Given the description of an element on the screen output the (x, y) to click on. 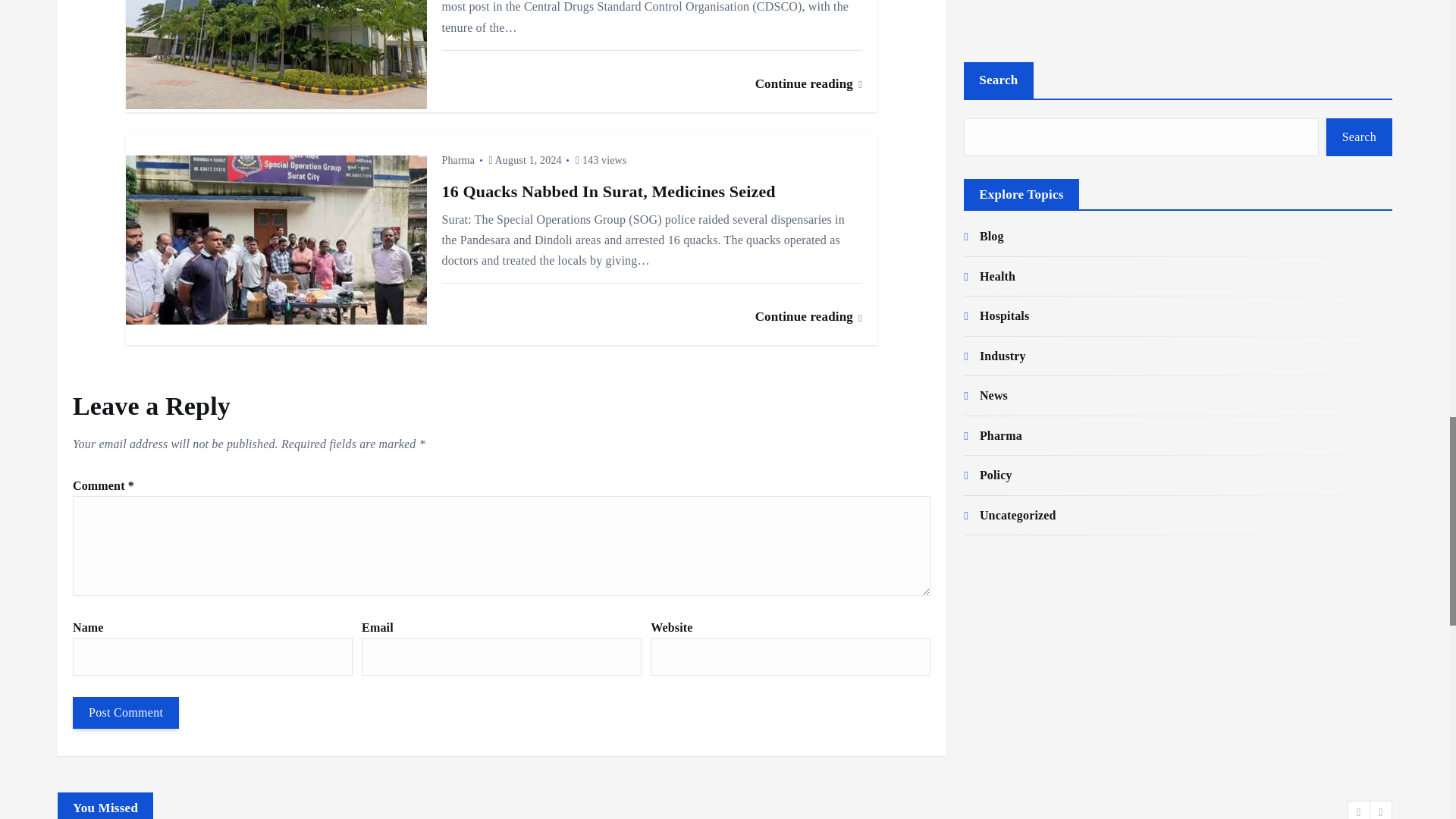
Post Comment (125, 712)
